Given the description of an element on the screen output the (x, y) to click on. 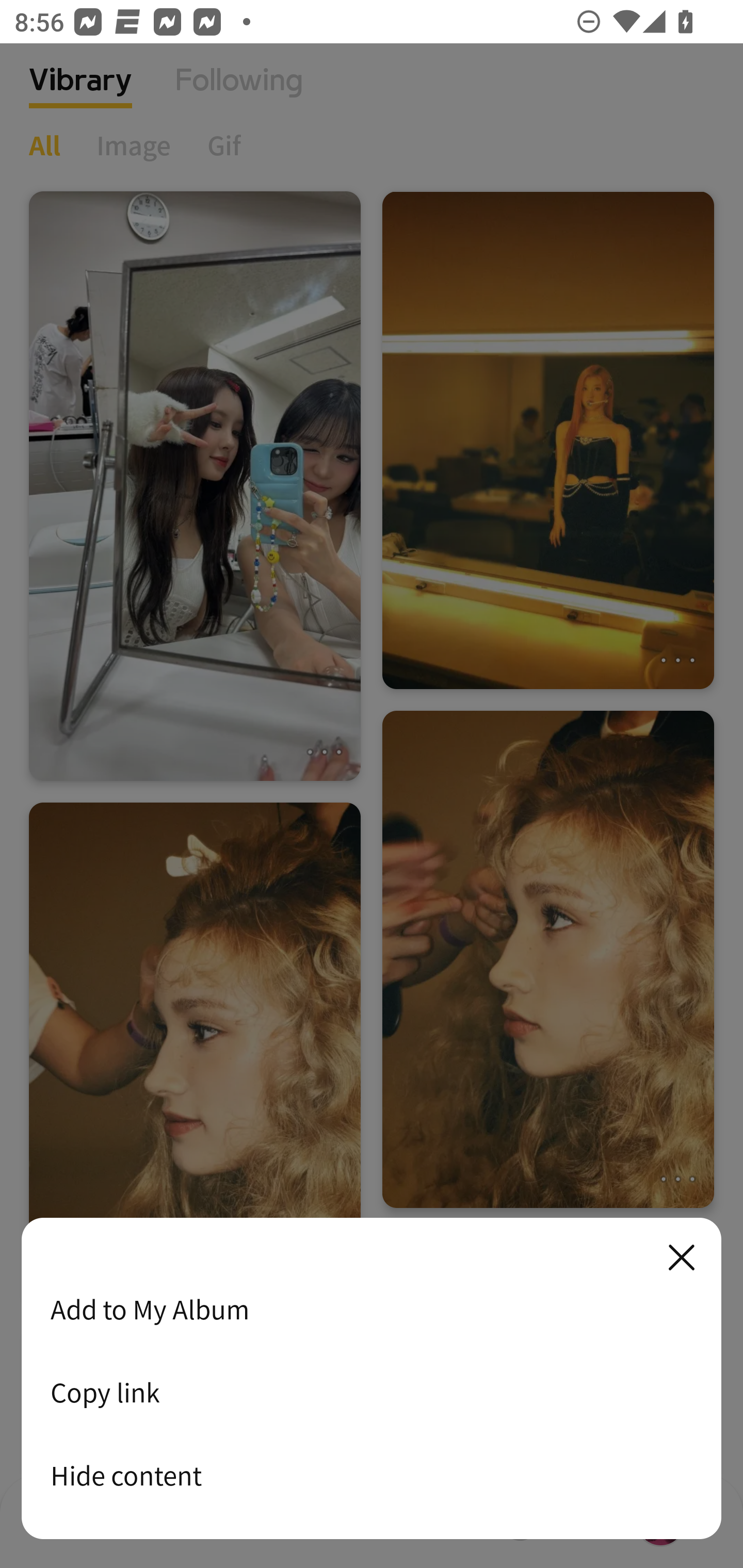
Add to My Album Copy link Hide content (371, 1378)
Add to My Album (371, 1308)
Copy link (371, 1391)
Hide content (371, 1474)
